Given the description of an element on the screen output the (x, y) to click on. 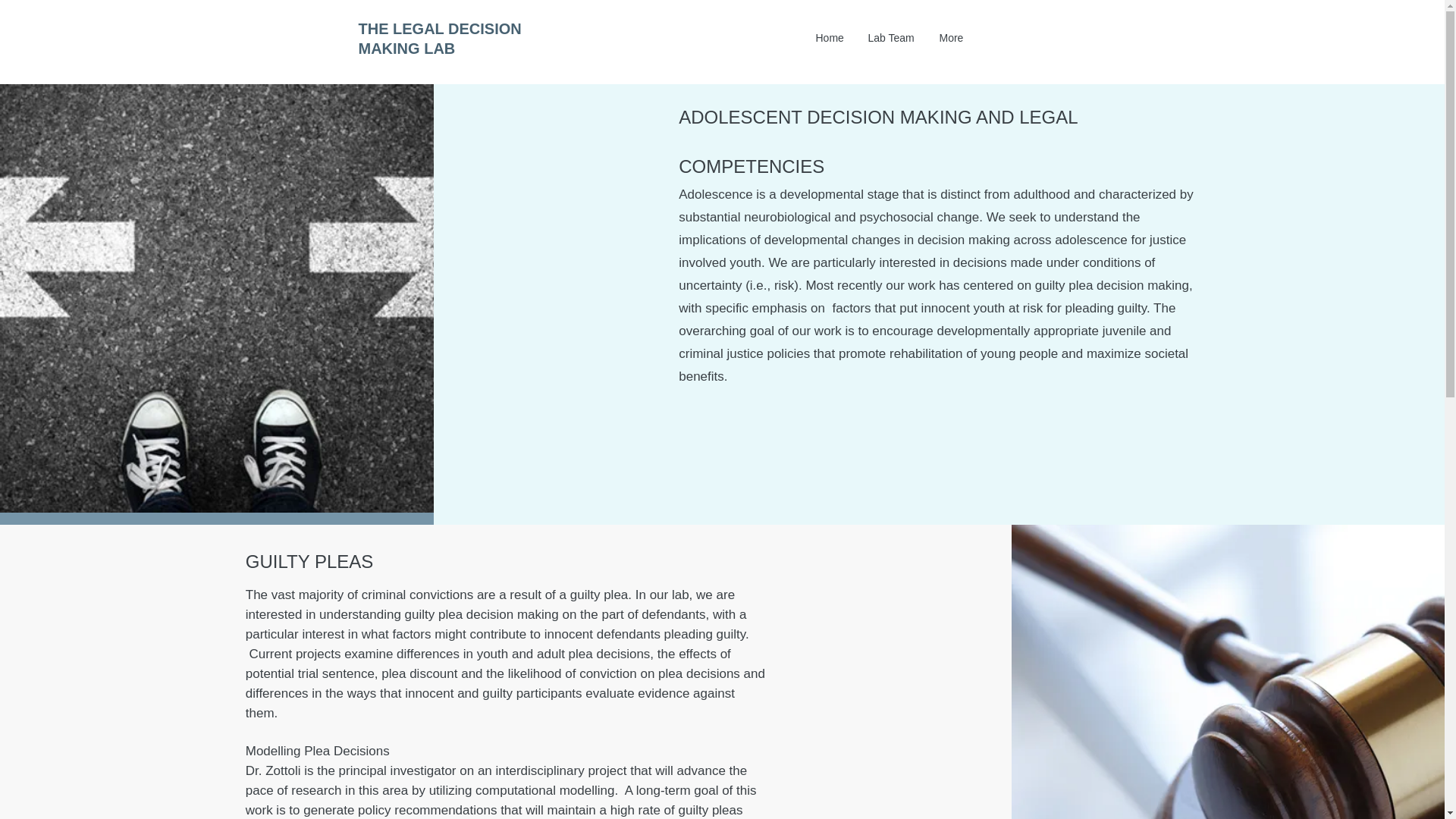
Lab Team (892, 38)
Home (829, 38)
